Given the description of an element on the screen output the (x, y) to click on. 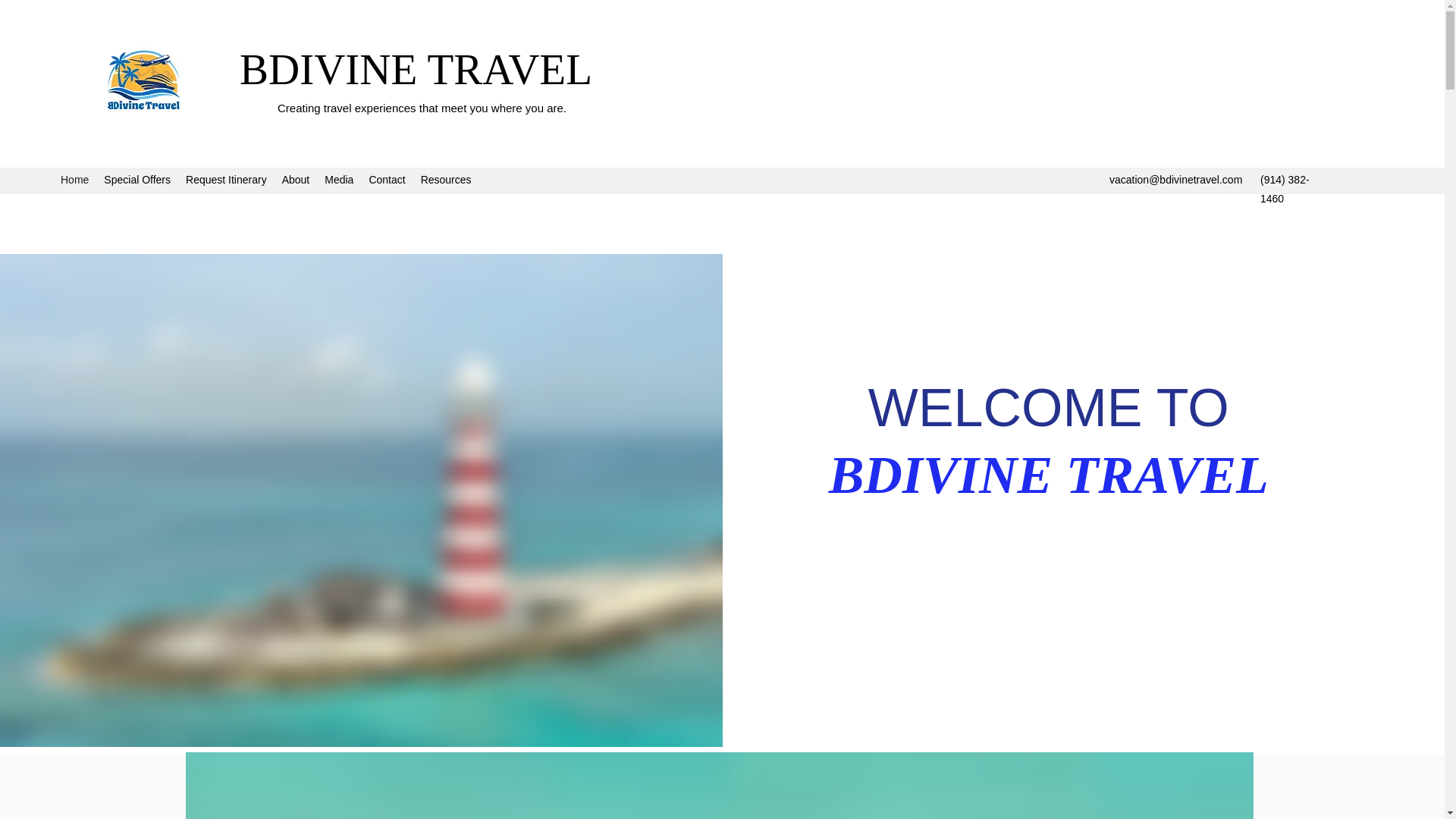
Contact (386, 180)
Special Offers (136, 180)
Media (339, 180)
BDIVINE TRAVEL (416, 69)
About (296, 180)
Home (74, 180)
Request Itinerary (226, 180)
